Given the description of an element on the screen output the (x, y) to click on. 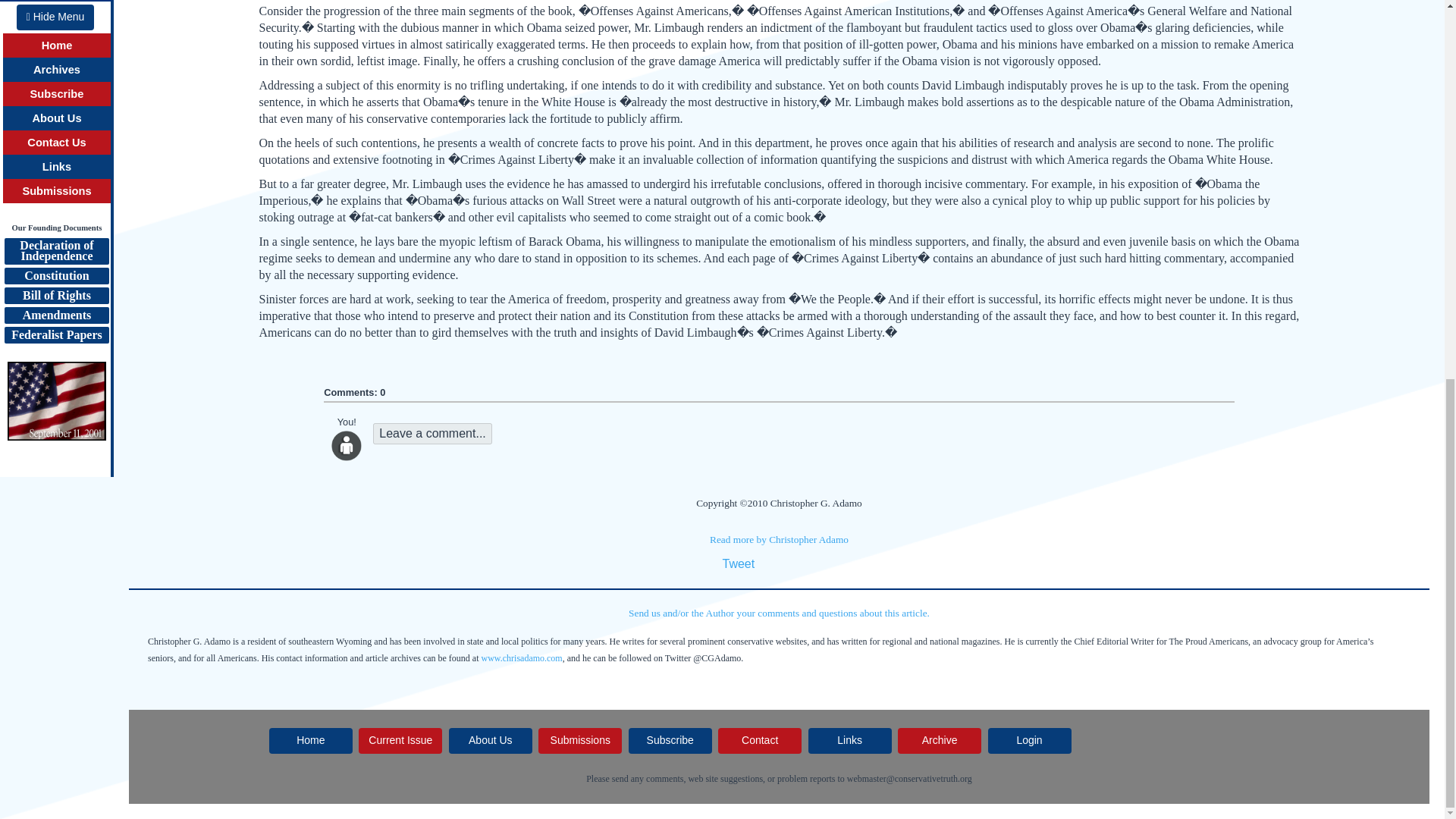
Login (1029, 740)
Links (849, 740)
Leave a comment... (432, 433)
Tweet (738, 563)
Contact (759, 740)
www.chrisadamo.com (521, 657)
Home (310, 740)
Current Issue (400, 740)
About Us (490, 740)
Read more by Christopher Adamo (779, 539)
